Given the description of an element on the screen output the (x, y) to click on. 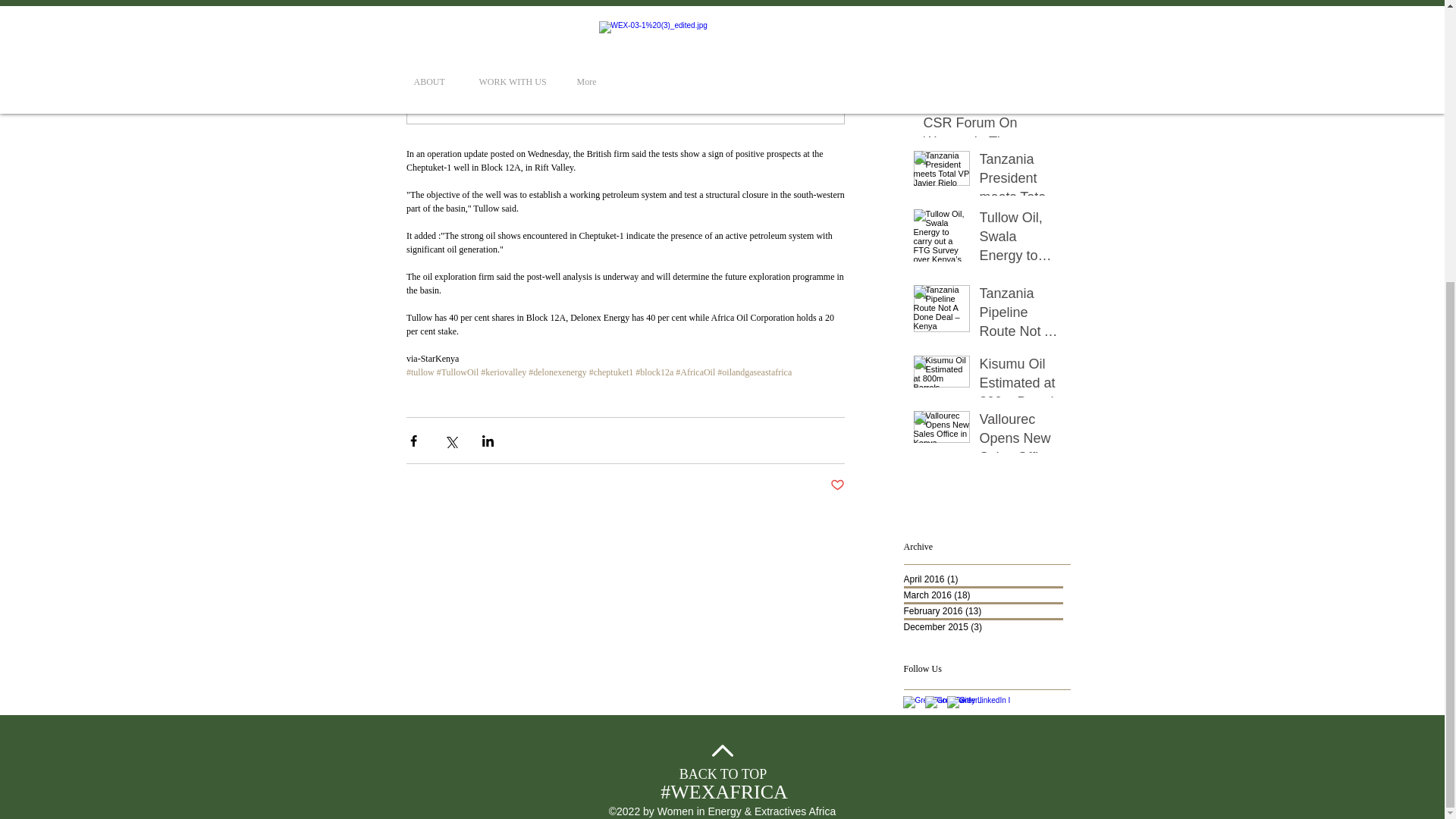
BACK TO TOP (723, 774)
Highlights From The CSR Forum On Women In The Extractives (992, 126)
Vallourec Opens New Sales Office in Kenya (1020, 442)
Post not marked as liked (836, 485)
Kisumu Oil Estimated at 800m Barrels (1020, 386)
